Given the description of an element on the screen output the (x, y) to click on. 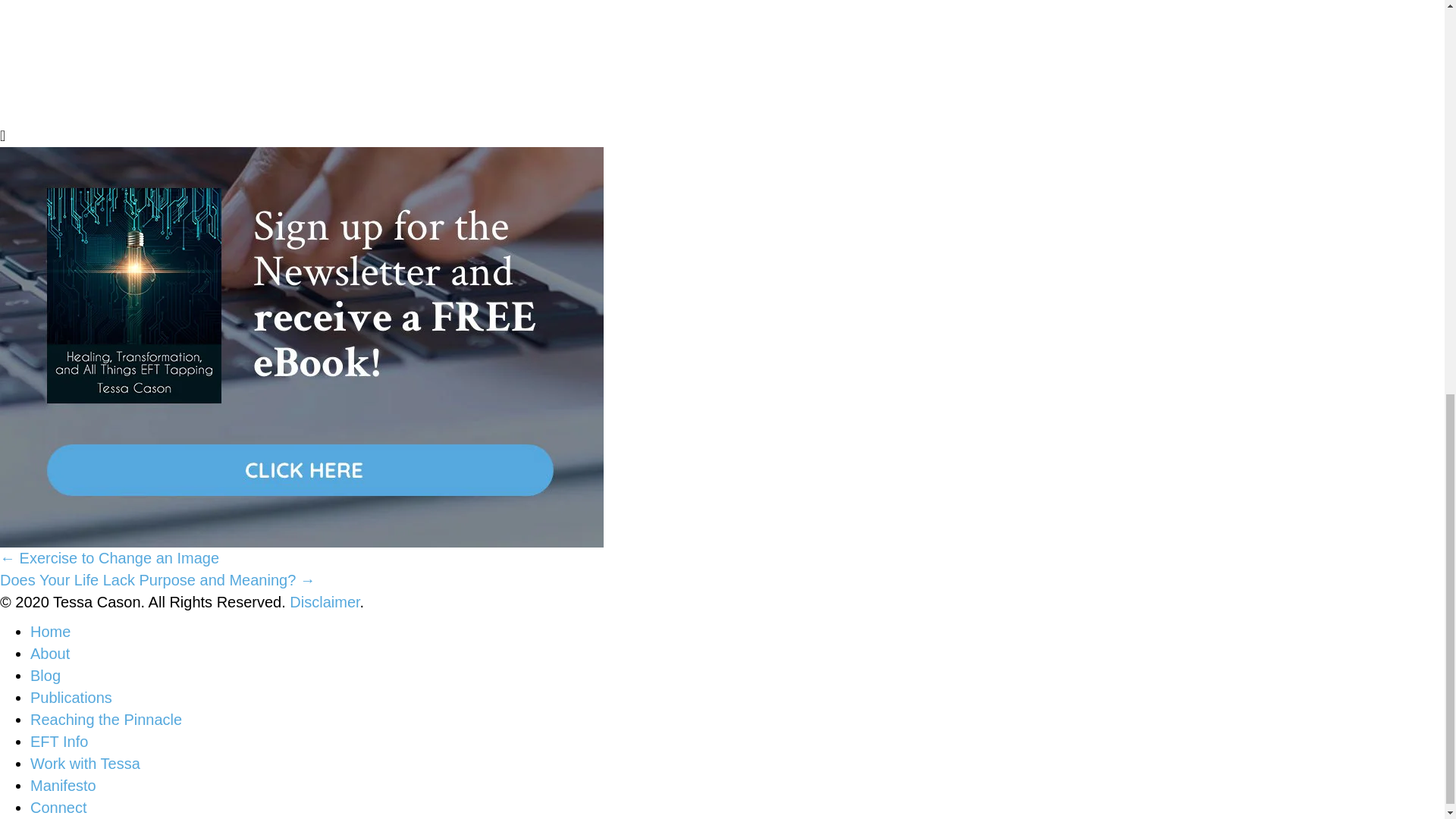
Home (49, 631)
Publications (71, 697)
Blog (45, 675)
Disclaimer (324, 601)
About (49, 653)
